Given the description of an element on the screen output the (x, y) to click on. 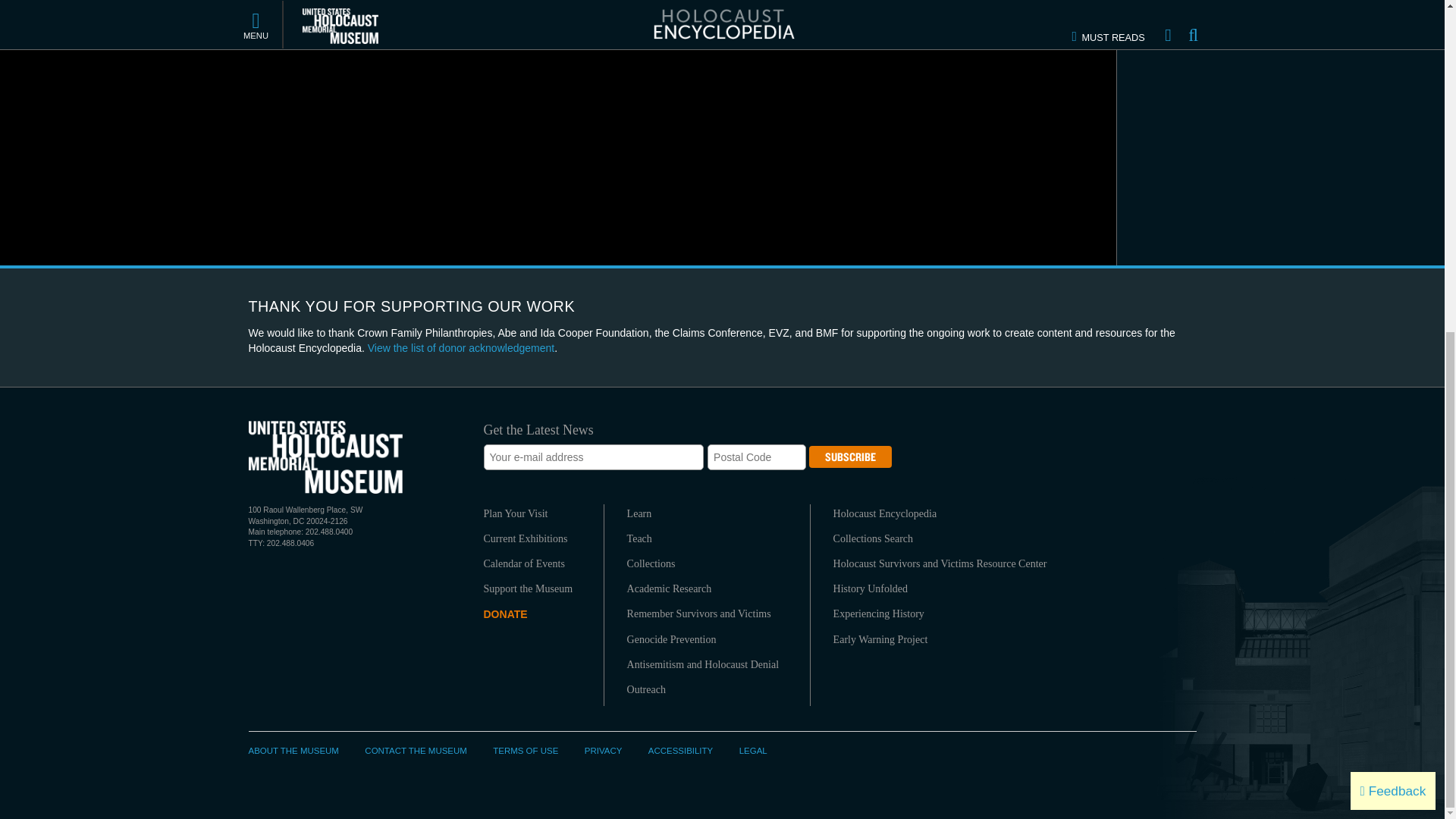
Subscribe (850, 456)
